Given the description of an element on the screen output the (x, y) to click on. 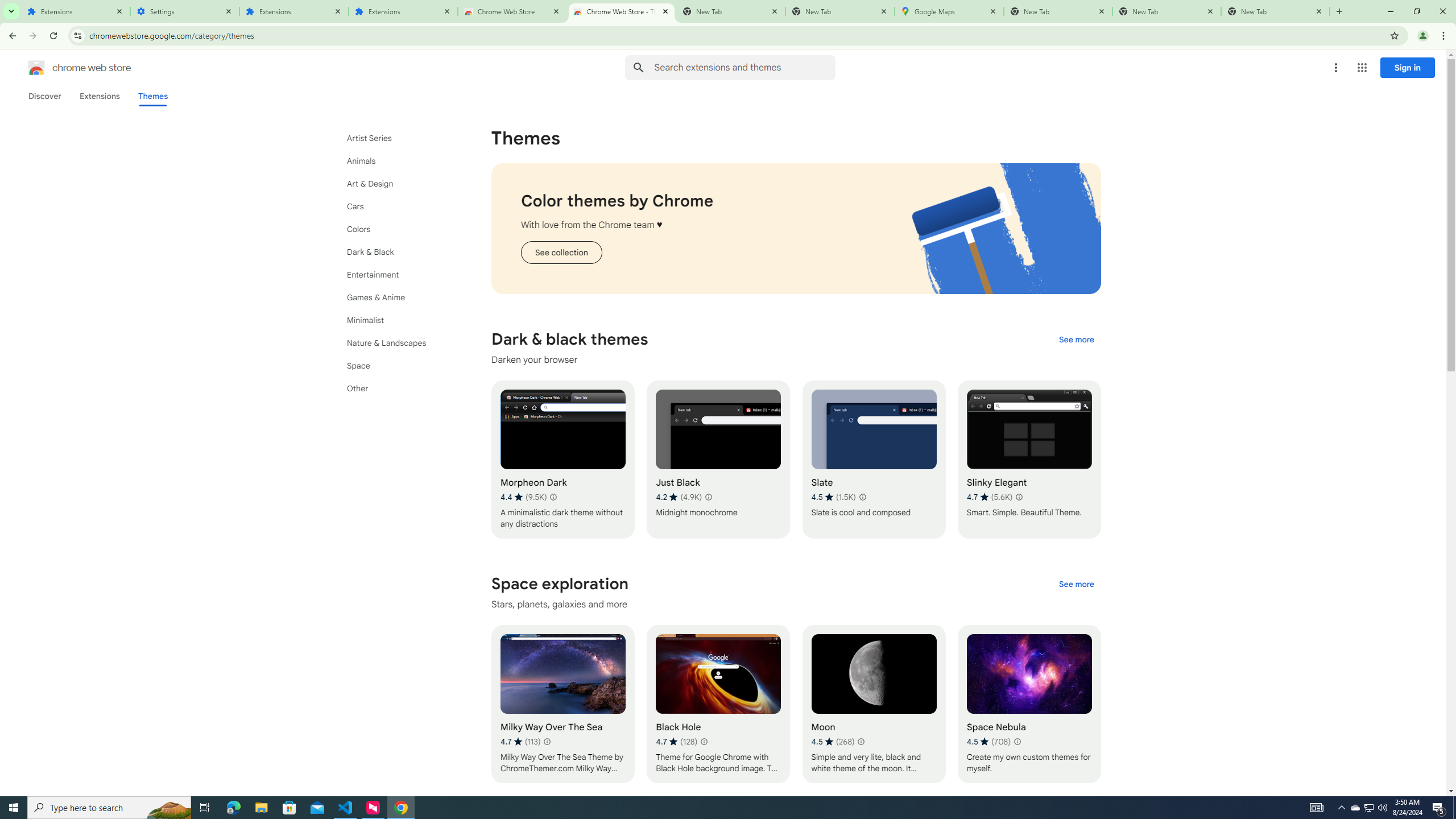
Slinky Elegant (1028, 459)
Settings (184, 11)
Cars (398, 205)
Dark & Black (398, 251)
Learn more about results and reviews "Slinky Elegant" (1018, 496)
Morpheon Dark (562, 459)
See the "Color themes by Chrome" collection (560, 252)
Extensions (293, 11)
Entertainment (398, 274)
Learn more about results and reviews "Space Nebula" (1016, 741)
